Given the description of an element on the screen output the (x, y) to click on. 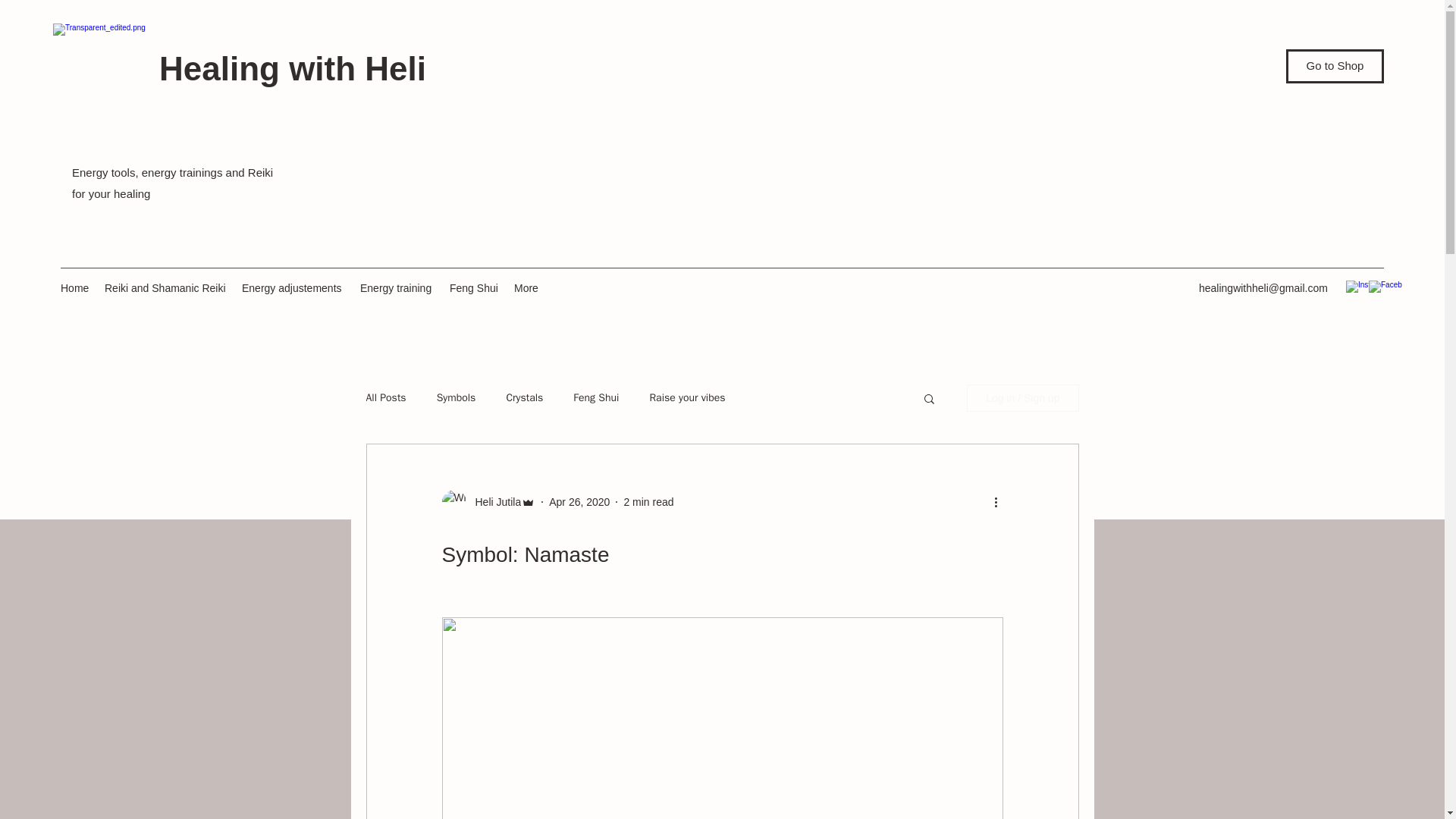
Energy training (397, 287)
Feng Shui (595, 397)
Crystals (524, 397)
Reiki and Shamanic Reiki (165, 287)
Feng Shui (474, 287)
Symbols (456, 397)
All Posts (385, 397)
Raise your vibes (687, 397)
Energy adjustements (293, 287)
Heli Jutila (493, 502)
2 min read (647, 501)
Healing with Heli (292, 67)
Go to Shop (1334, 66)
Apr 26, 2020 (579, 501)
Home (74, 287)
